Given the description of an element on the screen output the (x, y) to click on. 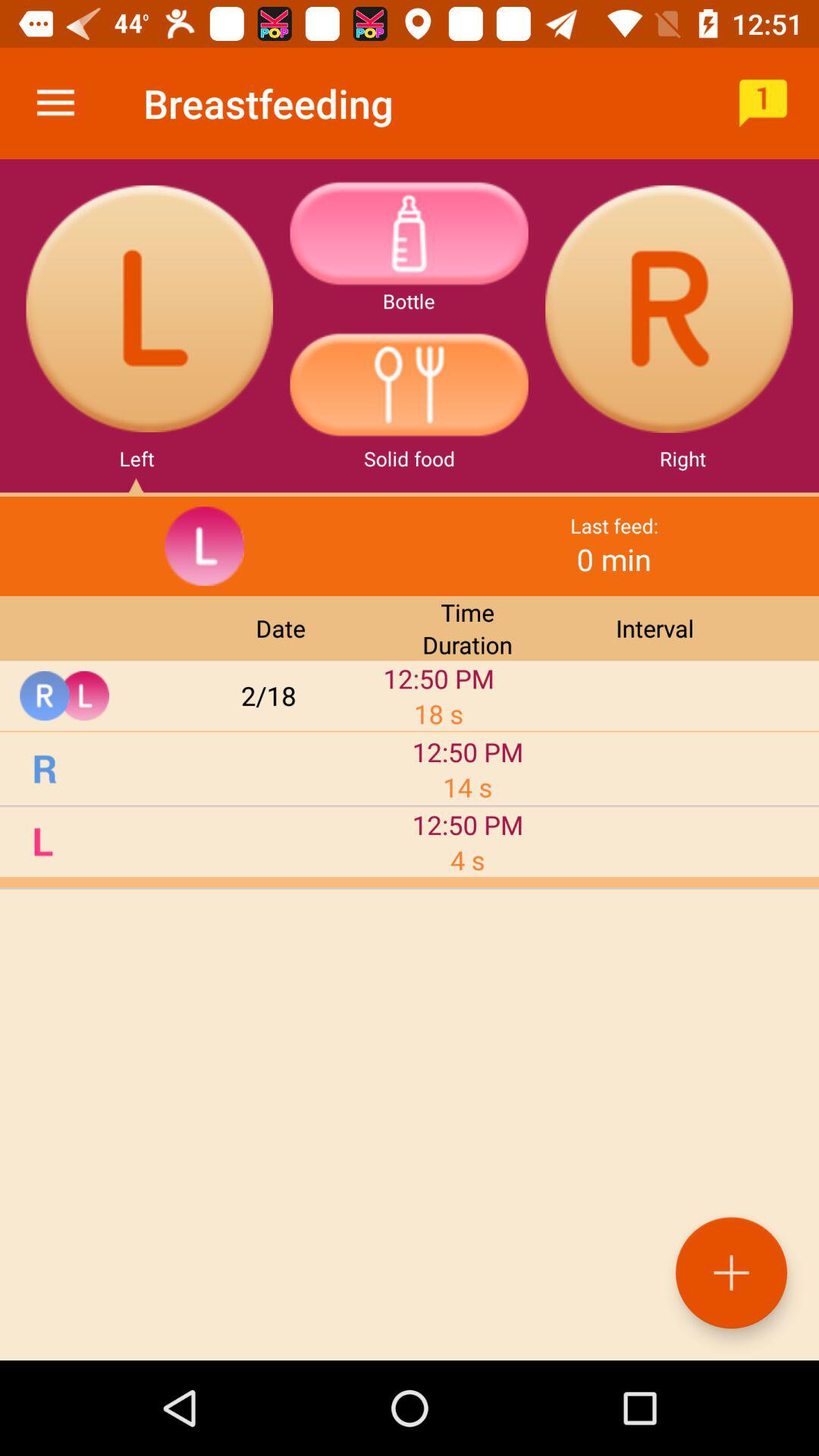
press the icon to the right of the breastfeeding (763, 103)
